Given the description of an element on the screen output the (x, y) to click on. 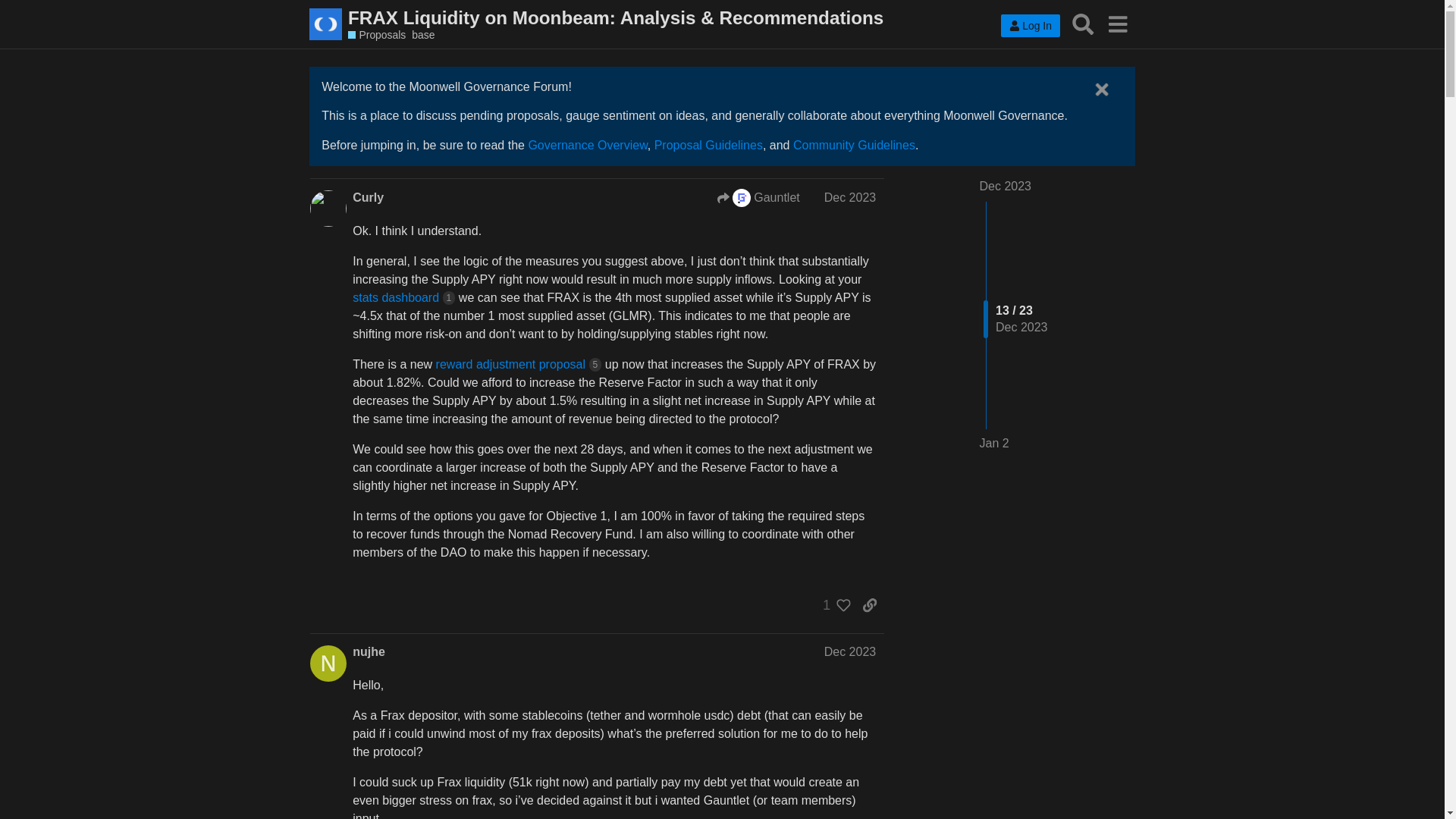
Gauntlet (741, 198)
1 (832, 605)
reward adjustment proposal 5 (518, 364)
base (422, 34)
1 person liked this post (832, 605)
stats dashboard 1 (403, 297)
Governance Overview (586, 144)
Load parent post (758, 198)
Jump to the first post (1005, 185)
1 click (448, 297)
Proposals (376, 34)
Dec 2023 (850, 651)
Dismiss this banner (1101, 88)
Jump to the last post (994, 442)
Dec 2023 (1005, 185)
